Given the description of an element on the screen output the (x, y) to click on. 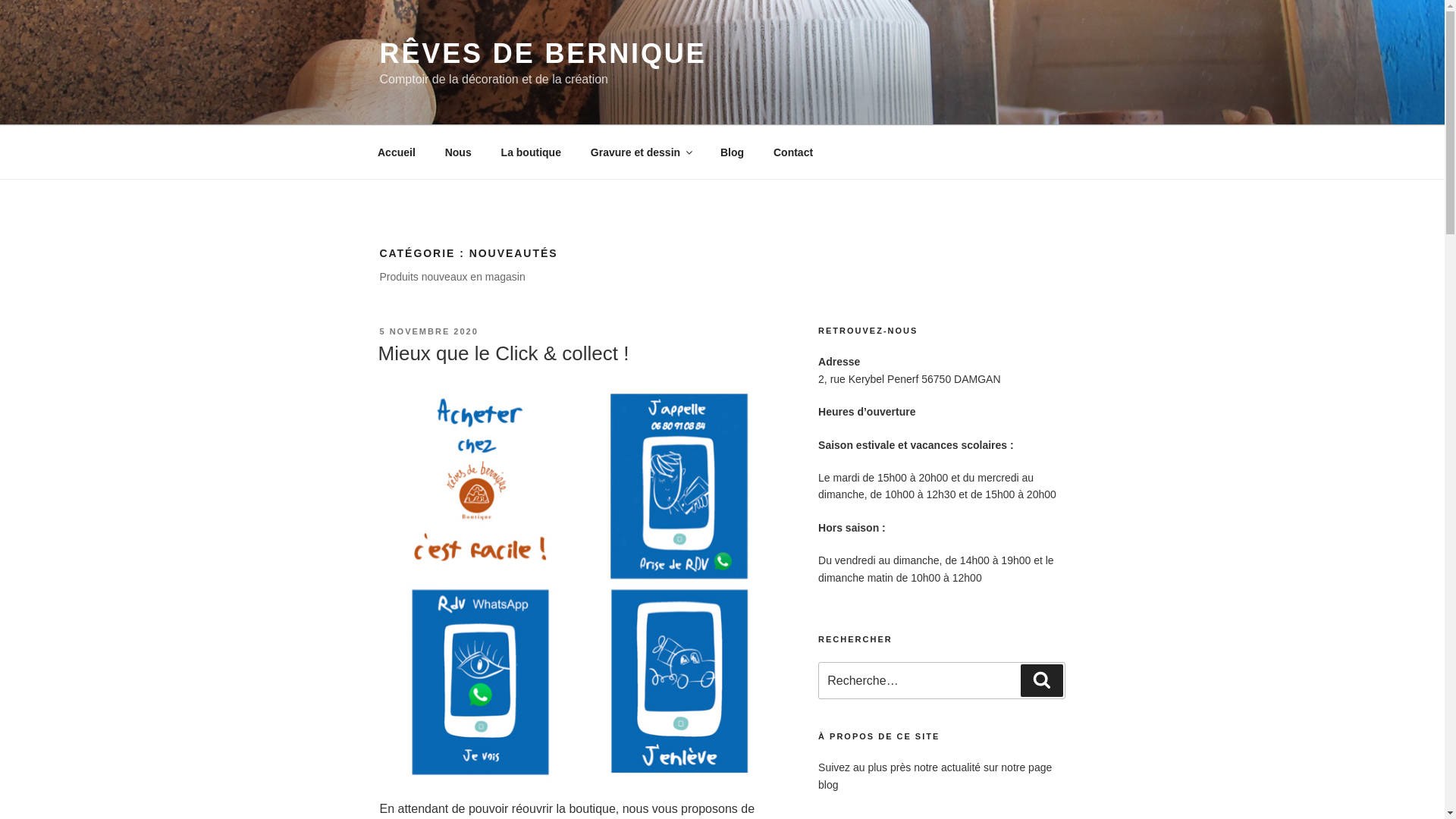
Accueil Element type: text (396, 151)
Contact Element type: text (792, 151)
La boutique Element type: text (530, 151)
Blog Element type: text (731, 151)
Nous Element type: text (457, 151)
5 NOVEMBRE 2020 Element type: text (428, 330)
Mieux que le Click & collect ! Element type: text (502, 353)
Gravure et dessin Element type: text (640, 151)
